Given the description of an element on the screen output the (x, y) to click on. 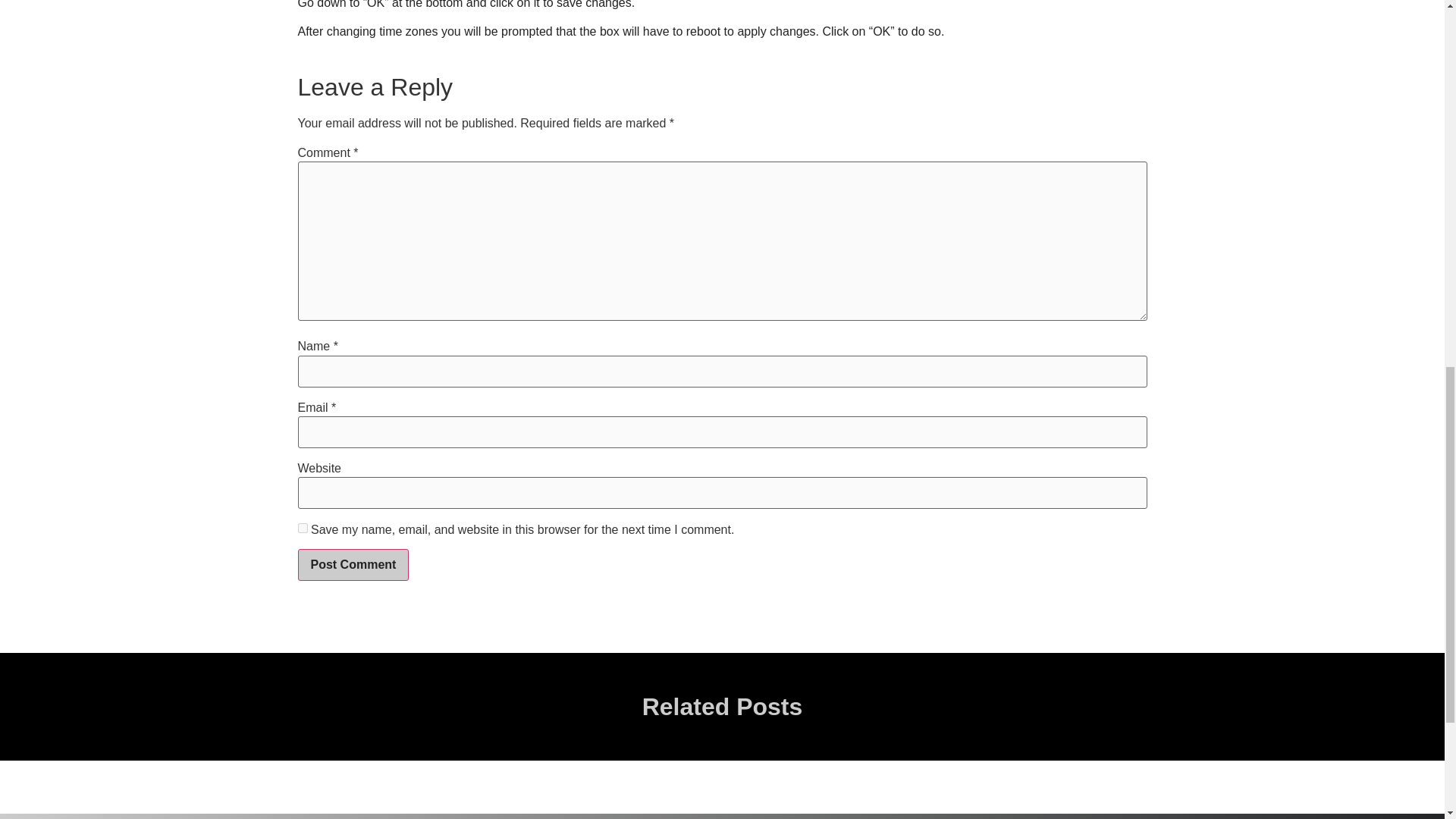
Post Comment (353, 564)
yes (302, 528)
Post Comment (353, 564)
